Given the description of an element on the screen output the (x, y) to click on. 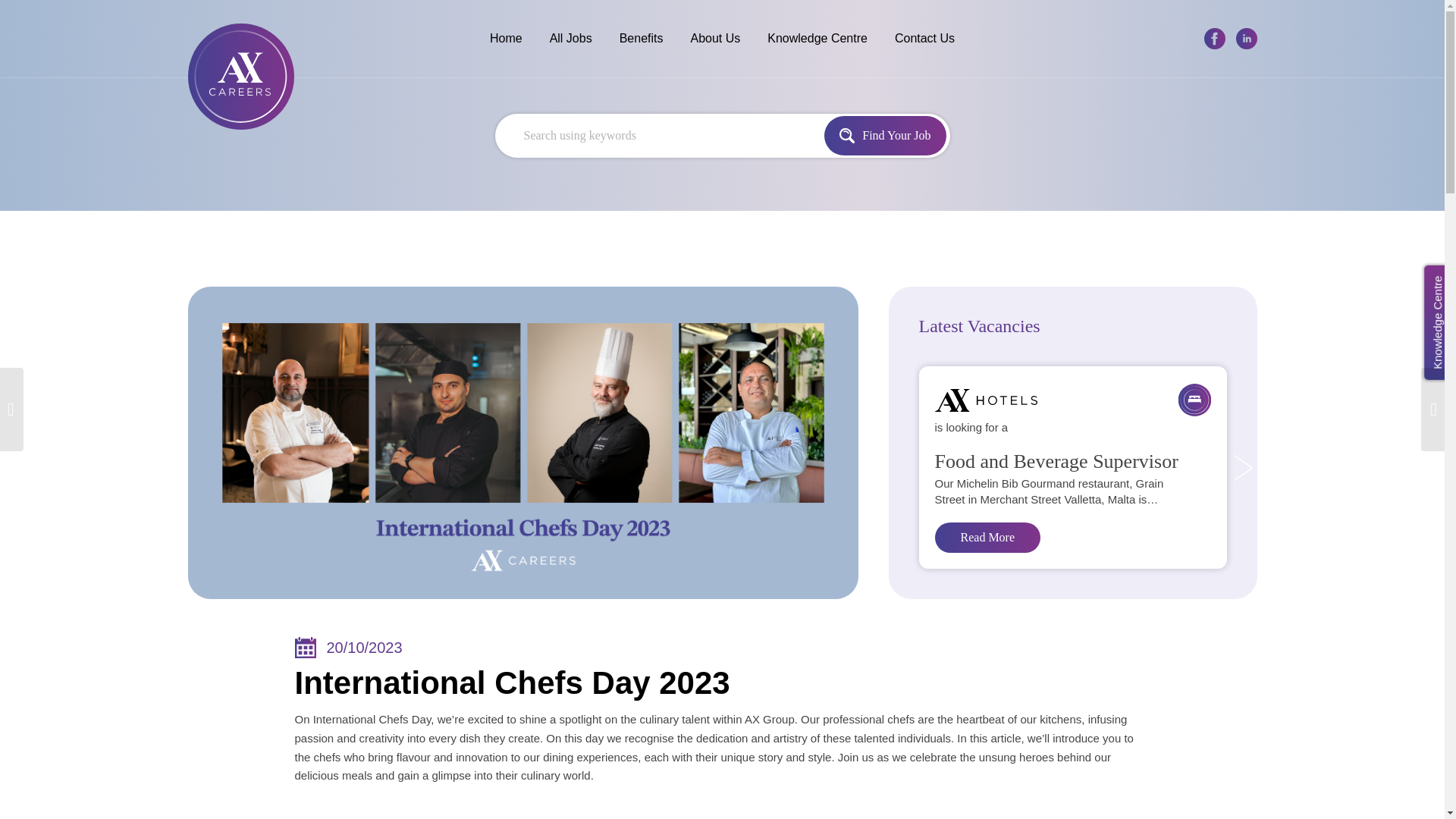
About Us (714, 38)
Find Your Job (884, 135)
Knowledge Centre (817, 38)
Contact Us (924, 38)
